Given the description of an element on the screen output the (x, y) to click on. 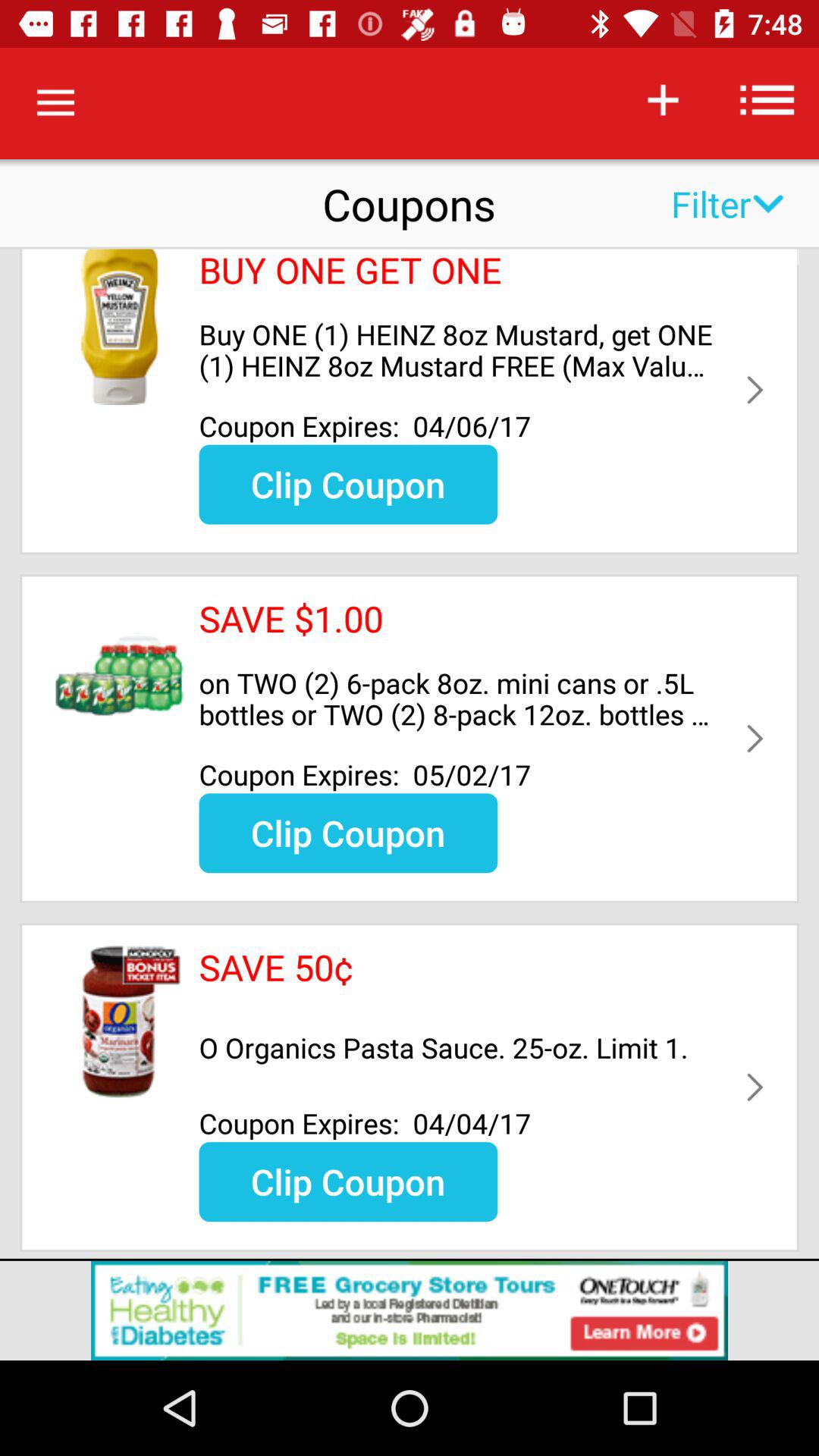
advertising (409, 1310)
